Given the description of an element on the screen output the (x, y) to click on. 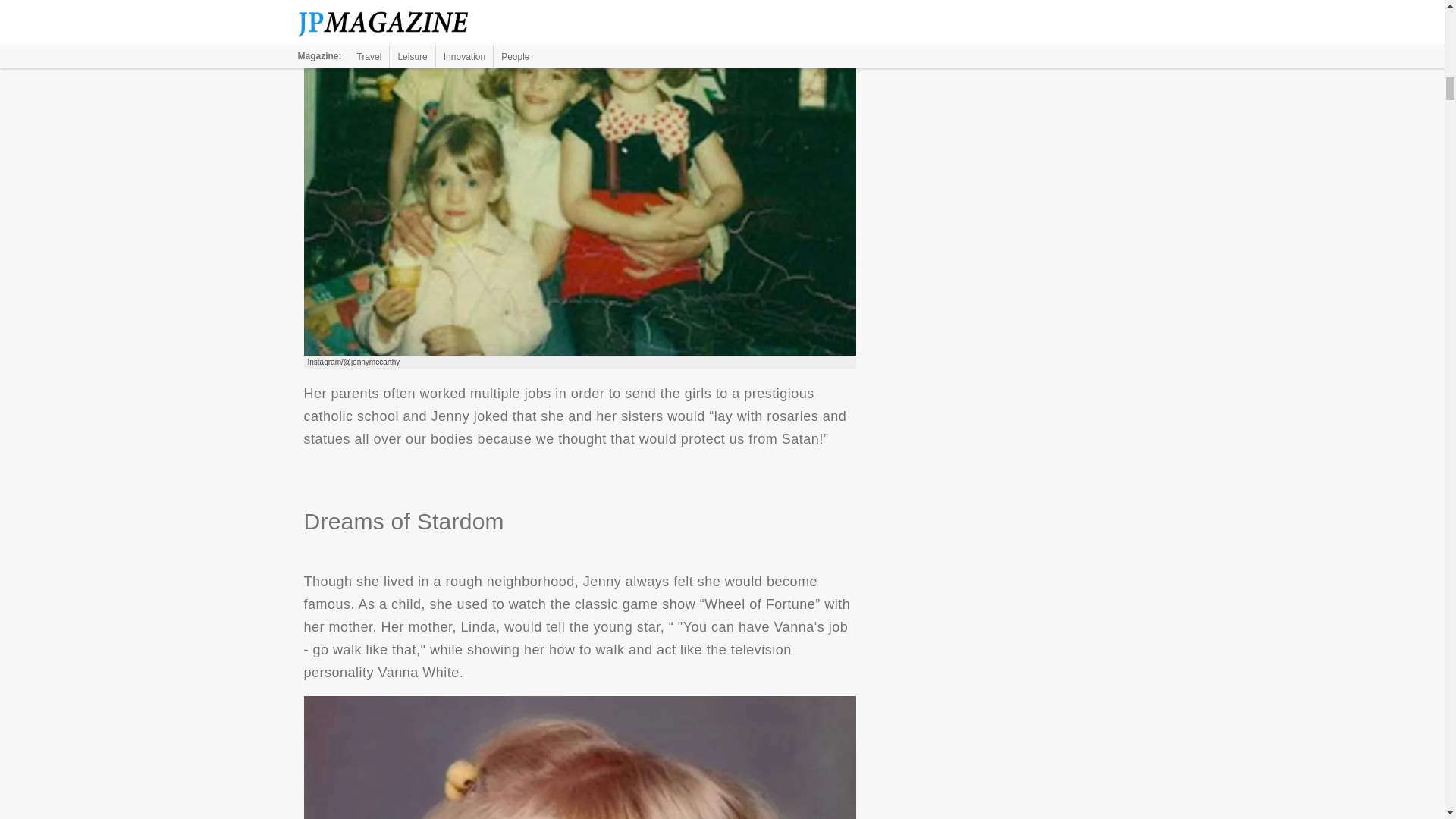
Dreams of Stardom (579, 757)
